Given the description of an element on the screen output the (x, y) to click on. 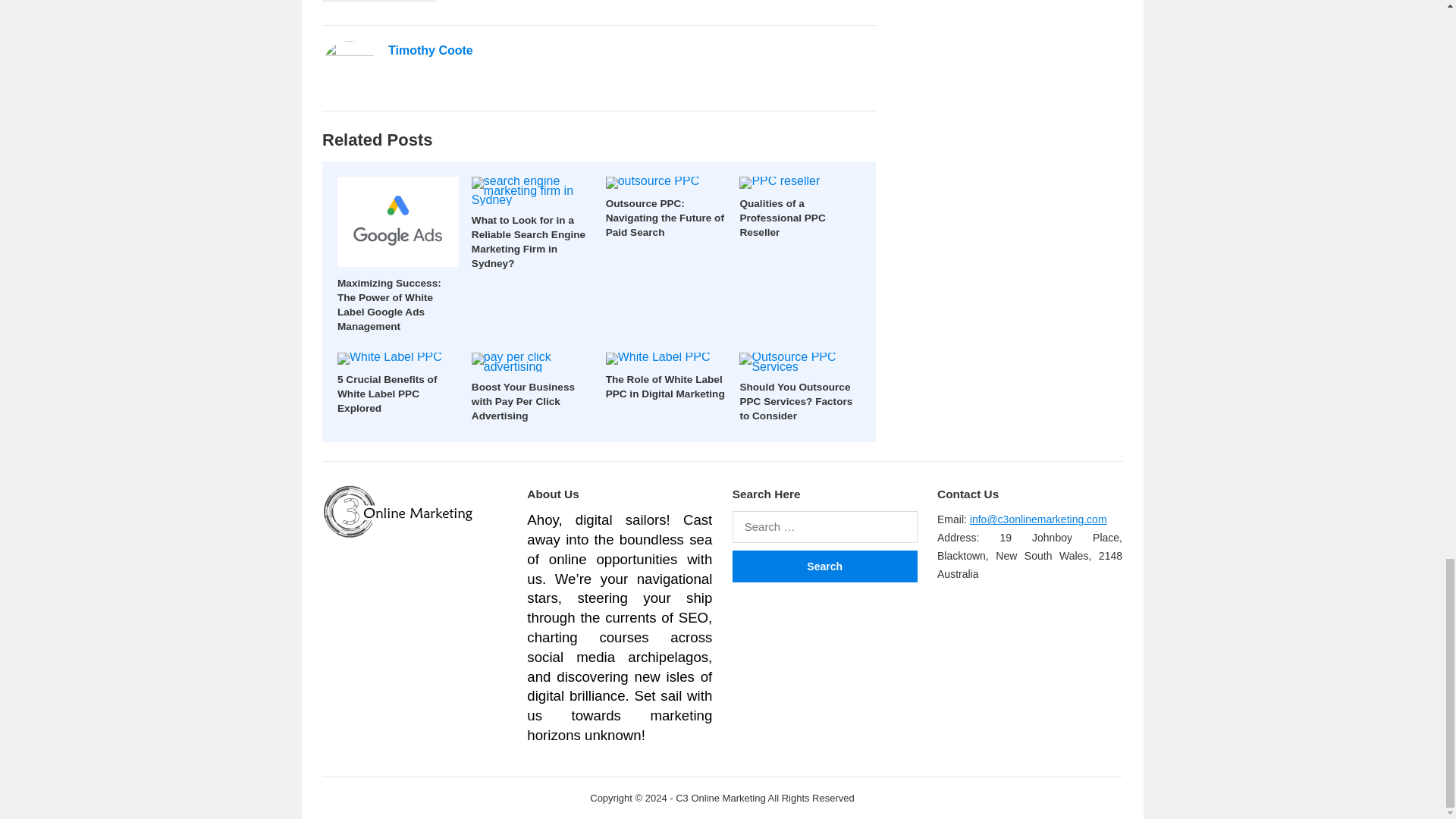
White Label Pay per Click (378, 1)
Search (824, 566)
Outsource PPC: Navigating the Future of Paid Search (664, 218)
Search (824, 566)
Timothy Coote (430, 50)
Qualities of a Professional PPC Reseller (782, 218)
5 Crucial Benefits of White Label PPC Explored (386, 393)
